Given the description of an element on the screen output the (x, y) to click on. 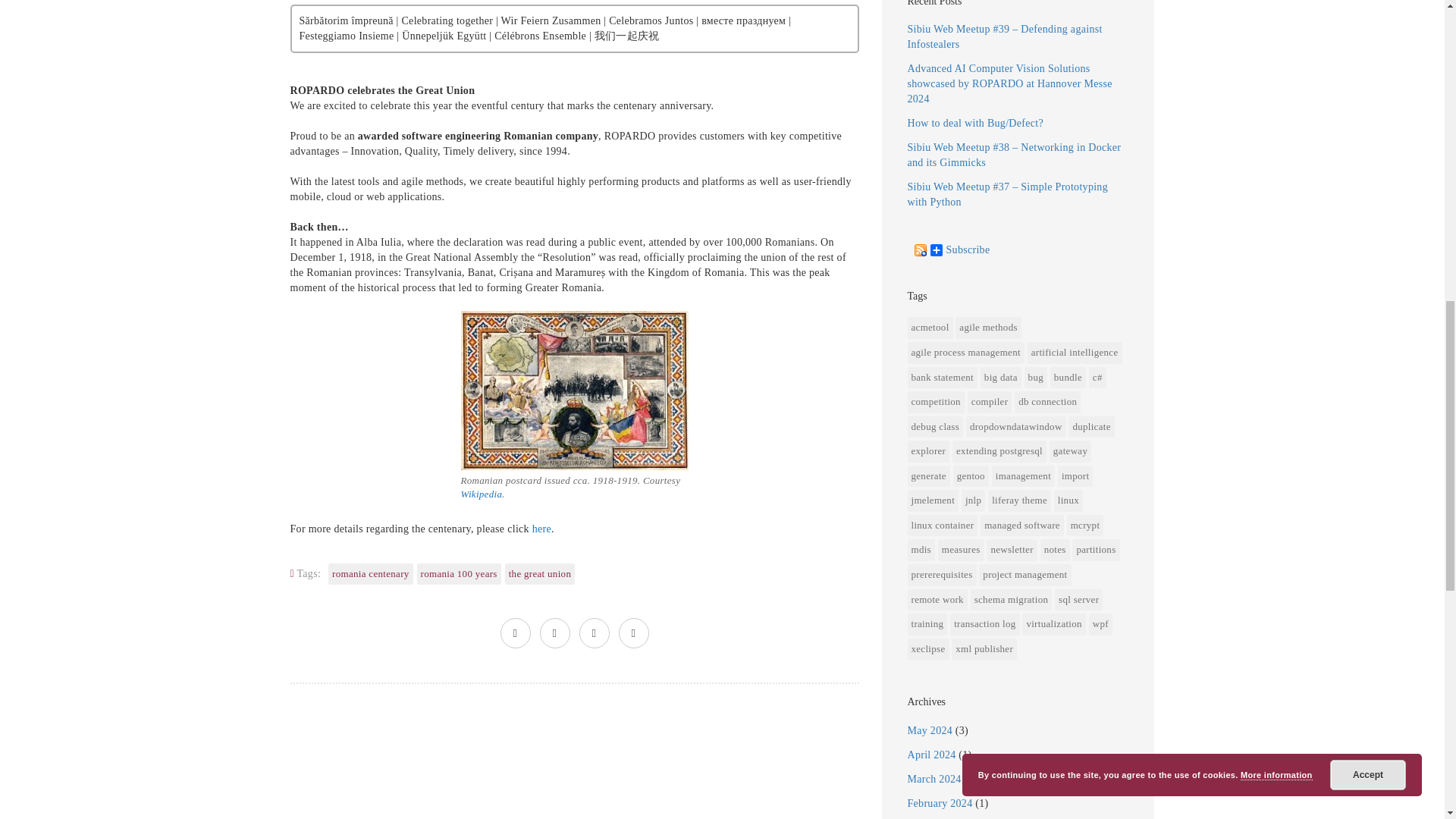
romania centenary (370, 574)
Wikipedia (481, 493)
romania 100 years (458, 574)
here (541, 528)
the great union (540, 574)
